Given the description of an element on the screen output the (x, y) to click on. 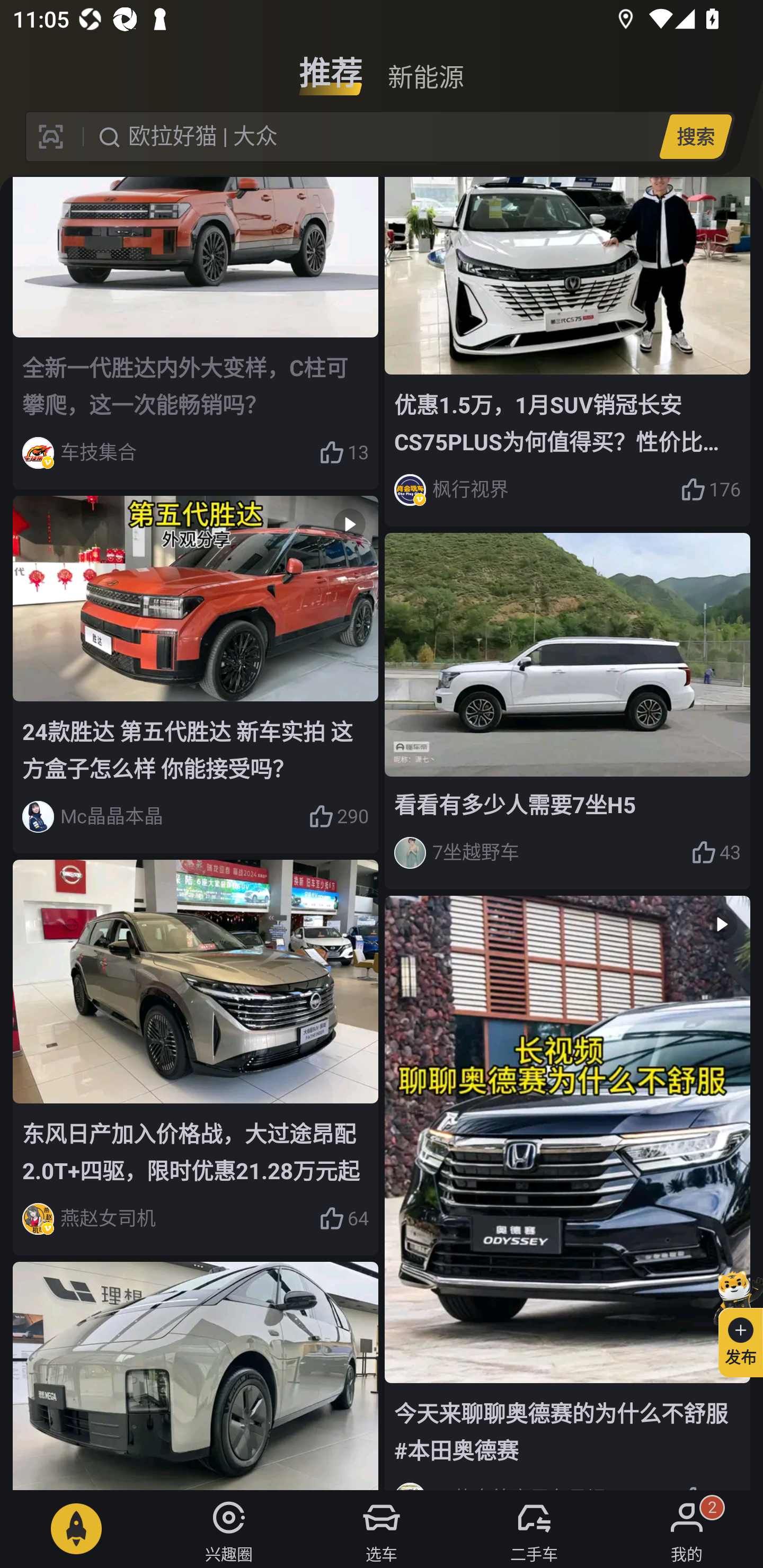
推荐 (330, 65)
新能源 (425, 65)
搜索 (695, 136)
全新一代胜达内外大变样，C柱可攀爬，这一次能畅销吗？ 车技集合 13 (195, 333)
优惠1.5万，1月SUV销冠长安CS75PLUS为何值得买？性价比是亮点！ 枫行视界 176 (567, 351)
13 (343, 452)
176 (710, 489)
 24款胜达 第五代胜达 新车实拍 这方盒子怎么样 你能接受吗？ Mc晶晶本晶 290 (195, 673)
看看有多少人需要7坐H5 7坐越野车 43 (567, 711)
290 (338, 816)
43 (715, 852)
东风日产加入价格战，大过途昂配2.0T+四驱，限时优惠21.28万元起 燕赵女司机 64 (195, 1057)
 今天来聊聊奥德赛的为什么不舒服#本田奥德赛 24款奥德赛用车日记 196 (567, 1192)
64 (343, 1218)
发布 (732, 1321)
 兴趣圈 (228, 1528)
 选车 (381, 1528)
 二手车 (533, 1528)
 我的 (686, 1528)
